Given the description of an element on the screen output the (x, y) to click on. 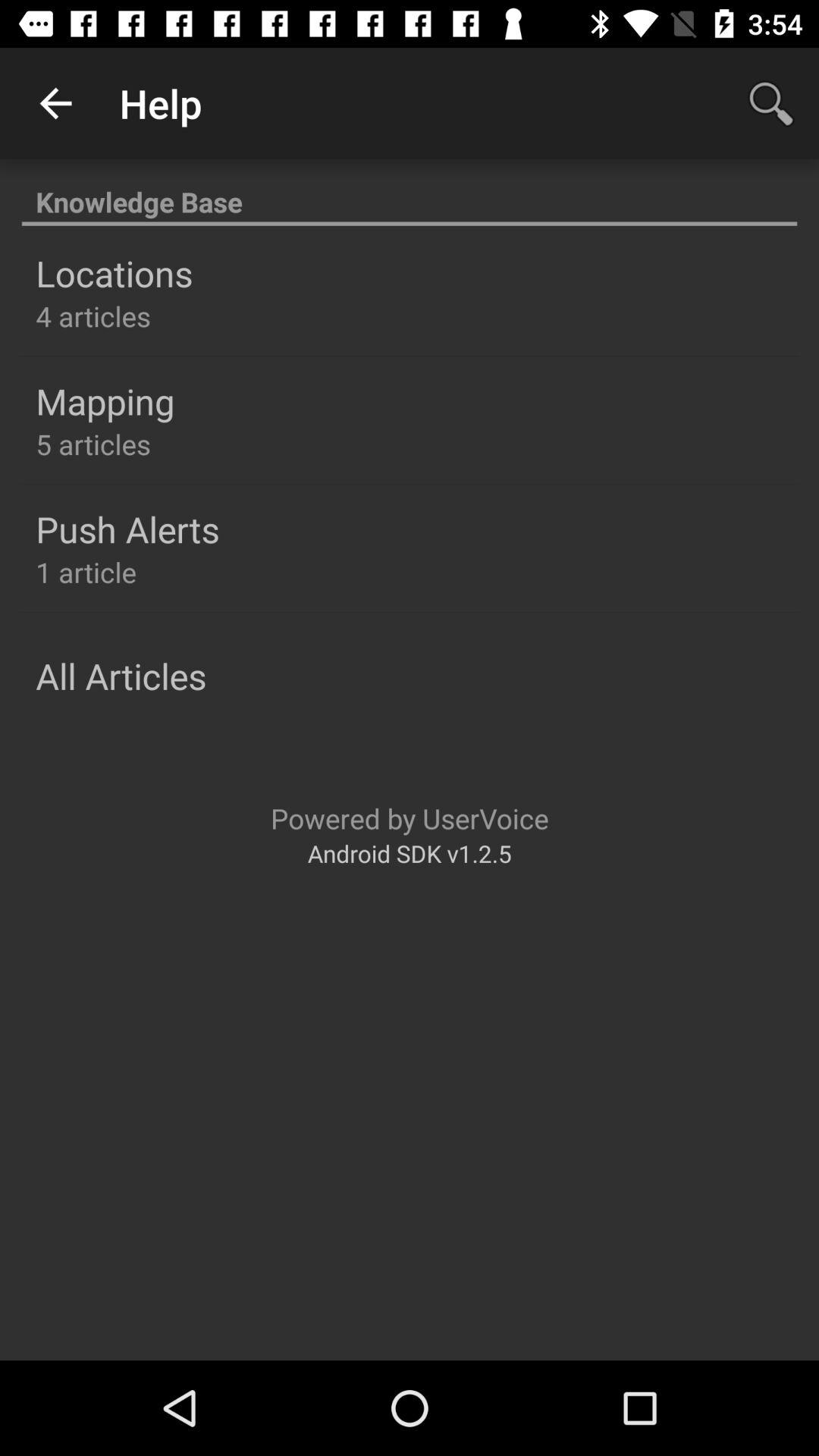
choose mapping icon (104, 401)
